Given the description of an element on the screen output the (x, y) to click on. 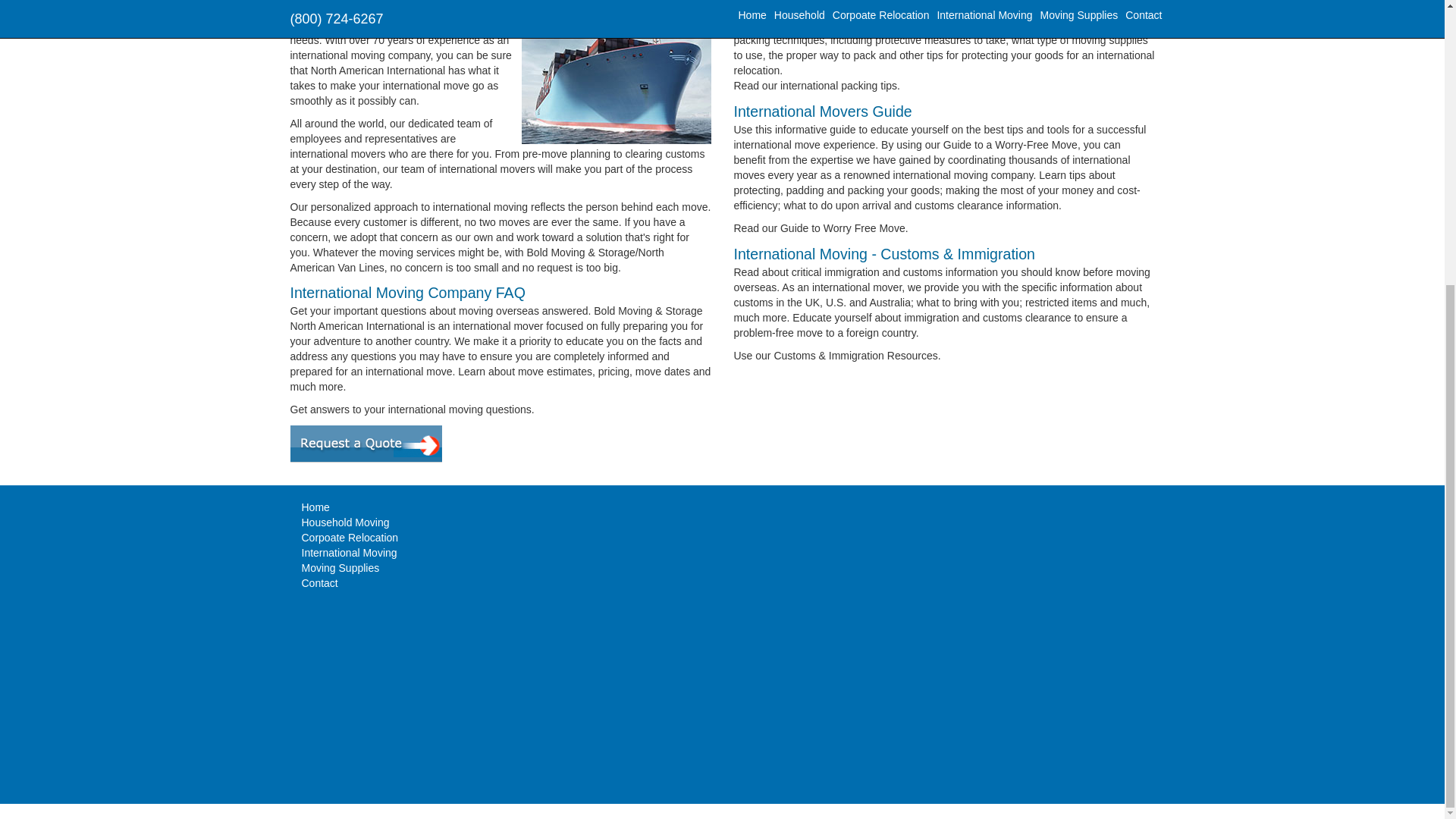
Contact (319, 582)
Household Moving (345, 522)
Home (315, 507)
International Moving (349, 552)
Moving Supplies (340, 567)
Corpoate Relocation (349, 537)
